Given the description of an element on the screen output the (x, y) to click on. 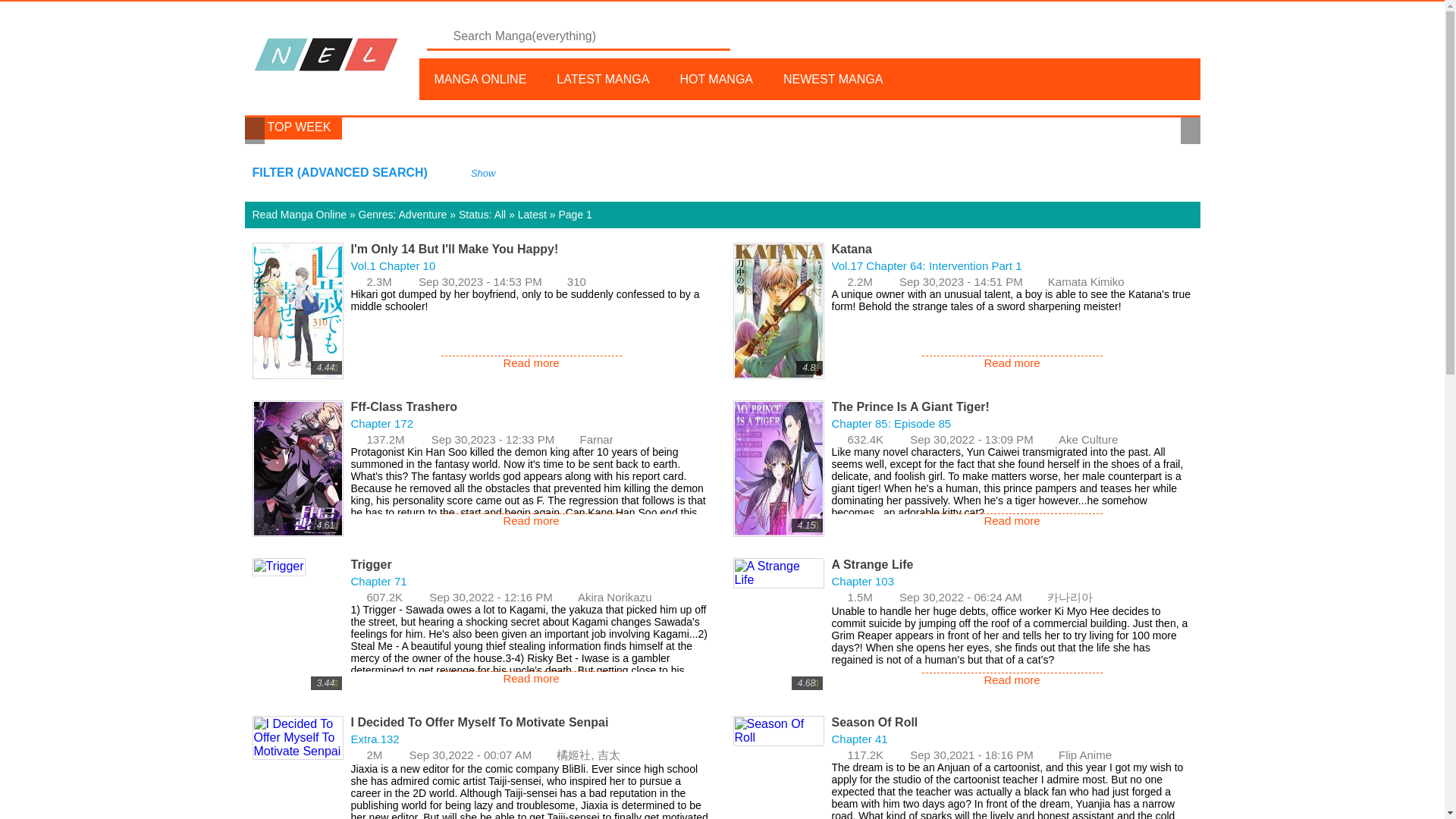
Status: All (481, 214)
A Strange Life (871, 564)
Manga Online (325, 54)
HOT MANGA (715, 78)
Manga Online (480, 78)
Katana (850, 249)
Fff-Class Trashero (403, 407)
Latest (532, 214)
I'm Only 14 But I'll Make You Happy! (453, 249)
LATEST MANGA (602, 78)
